Given the description of an element on the screen output the (x, y) to click on. 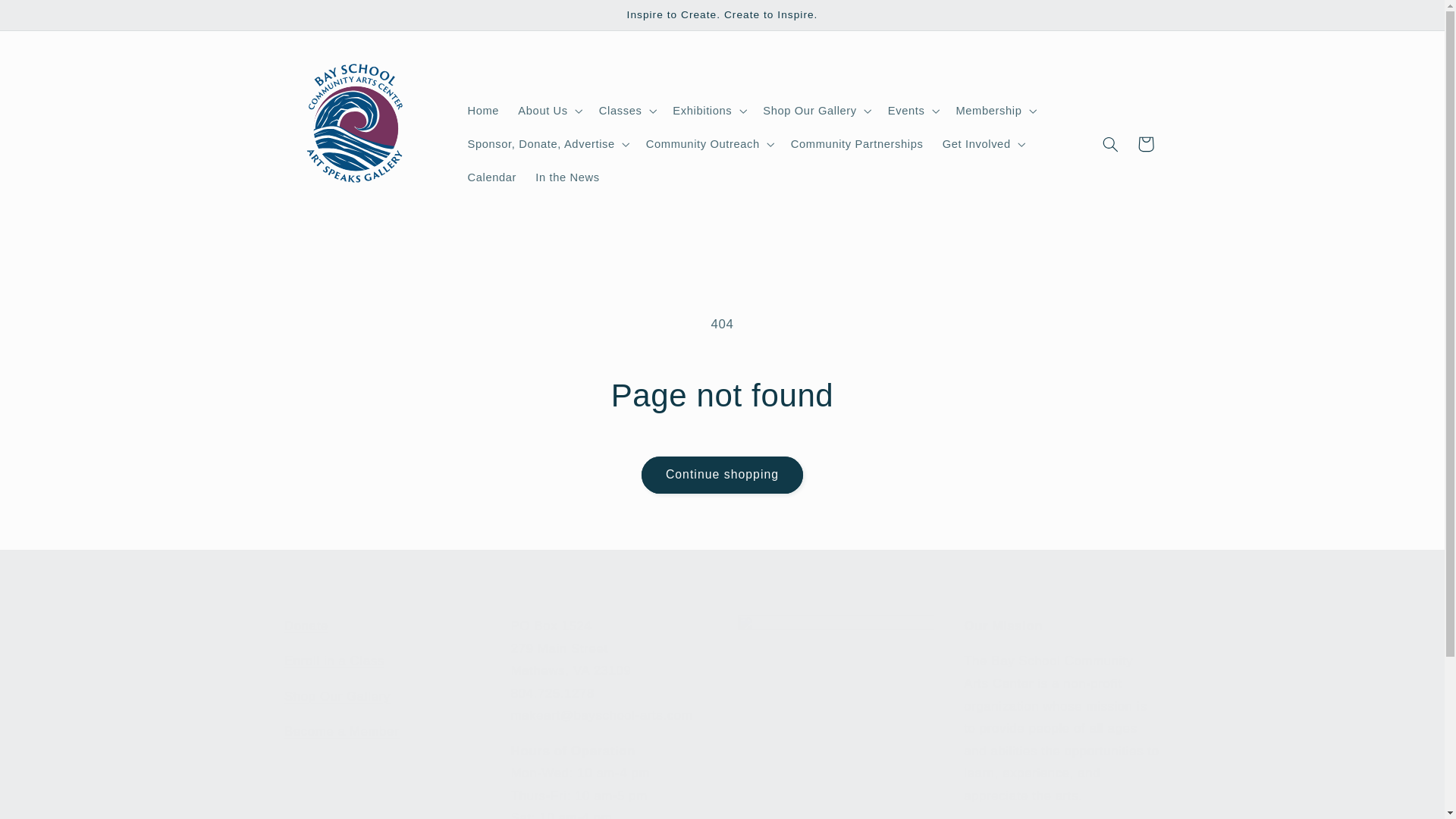
Art Speaks Gallery (336, 696)
Skip to content (381, 717)
